Given the description of an element on the screen output the (x, y) to click on. 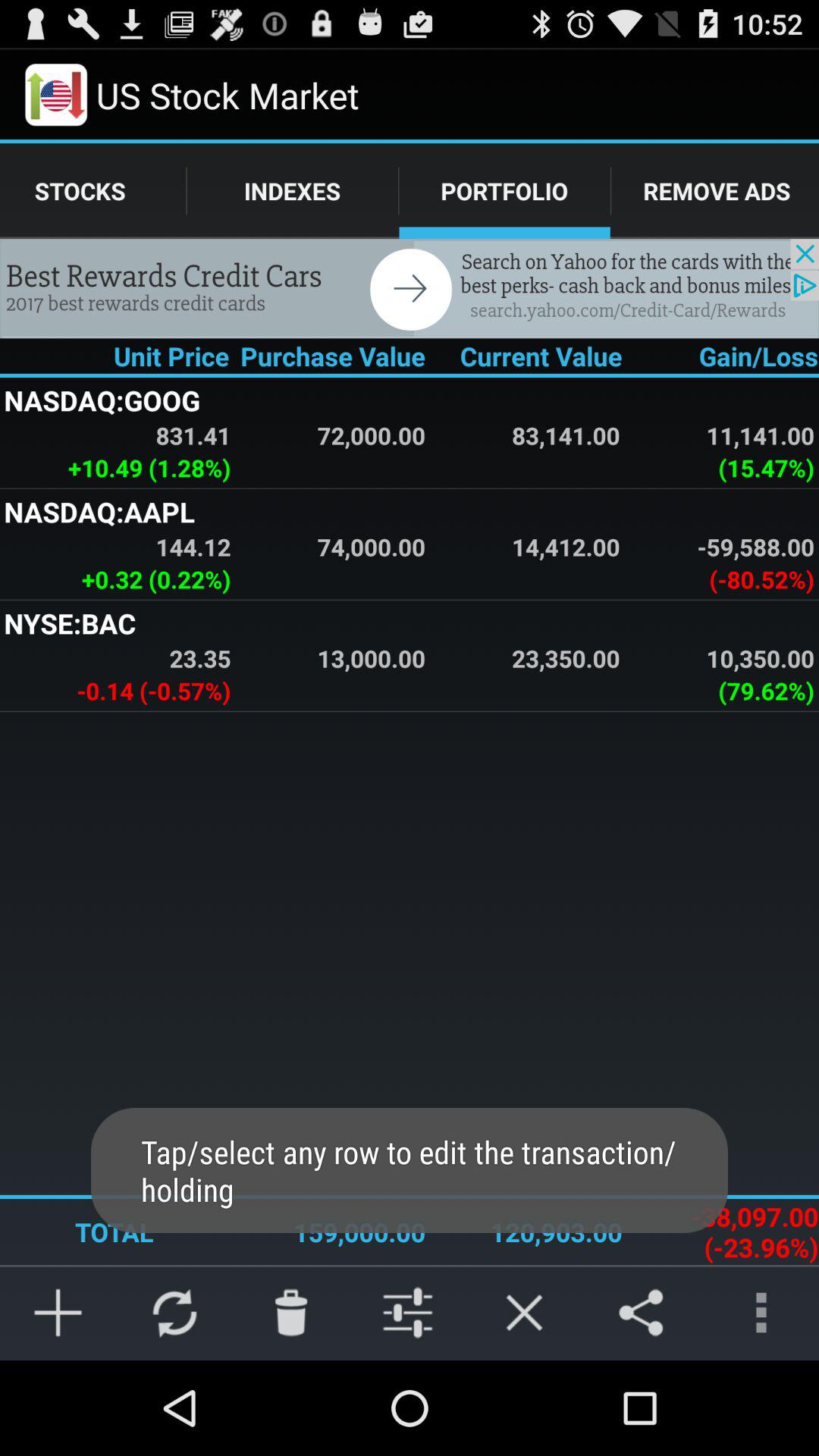
details about advertisement (409, 288)
